Given the description of an element on the screen output the (x, y) to click on. 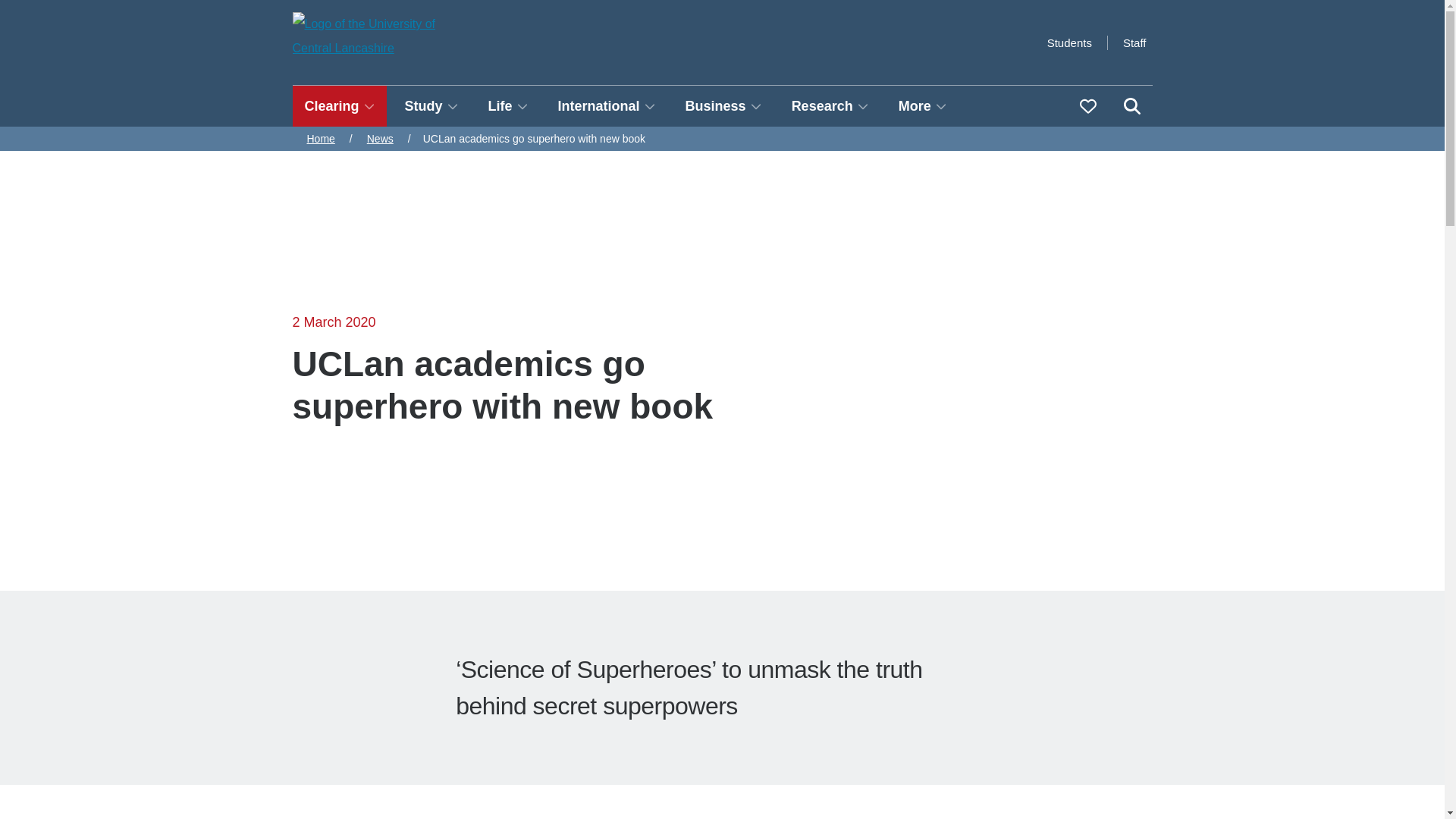
Clearing (339, 105)
Study (431, 105)
Staff (1134, 42)
Students (1069, 42)
Life (508, 105)
